Given the description of an element on the screen output the (x, y) to click on. 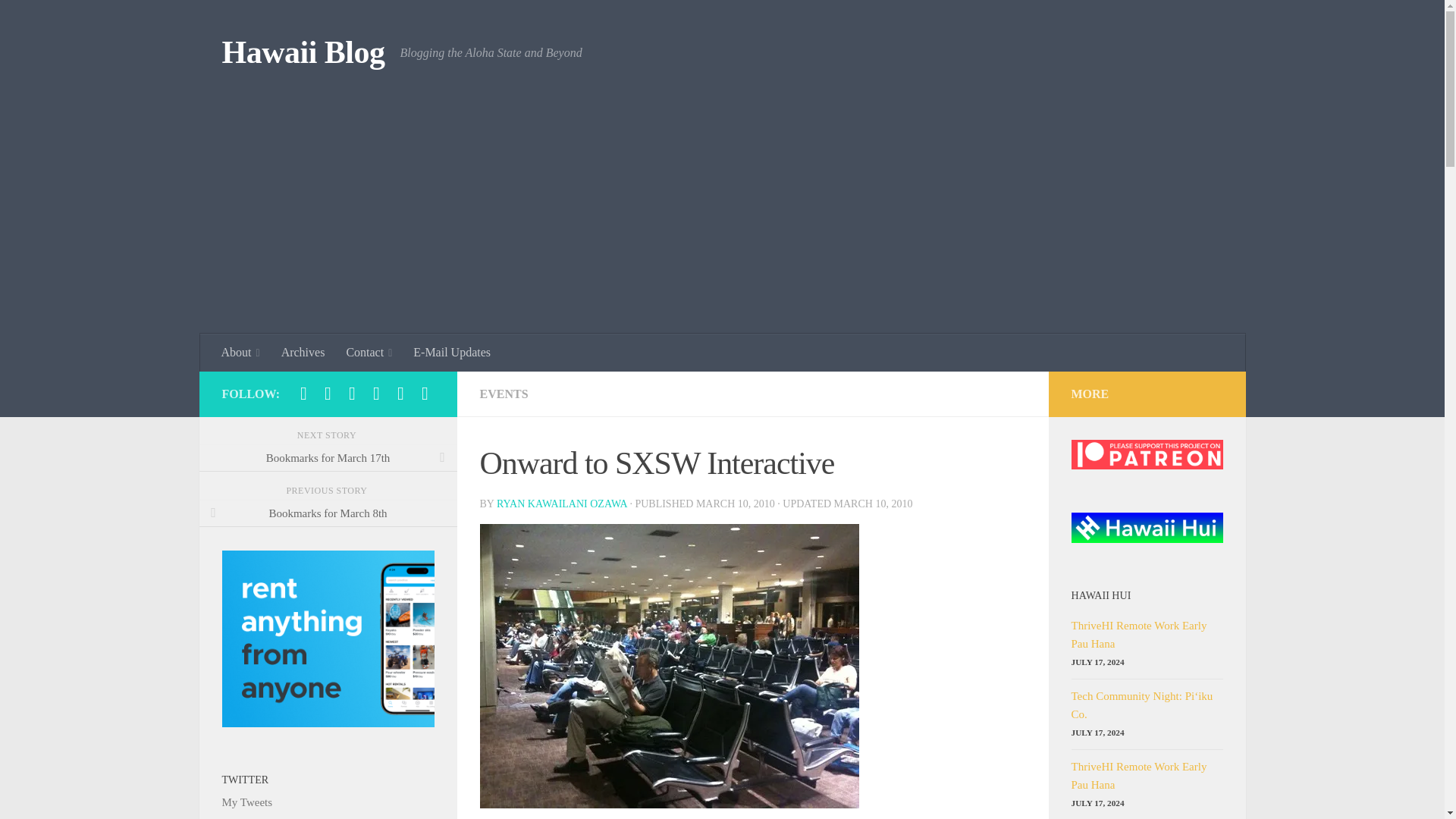
Hawaii Blog (302, 53)
About (240, 352)
Flickr (375, 393)
Facebook (351, 393)
E-Mail Updates (451, 352)
EVENTS (503, 393)
SXSW by hawaii, on Flickr (669, 803)
RYAN KAWAILANI OZAWA (561, 503)
Posts by Ryan Kawailani Ozawa (561, 503)
Contact (368, 352)
Skip to content (59, 20)
Archives (303, 352)
Twitter (303, 393)
